Given the description of an element on the screen output the (x, y) to click on. 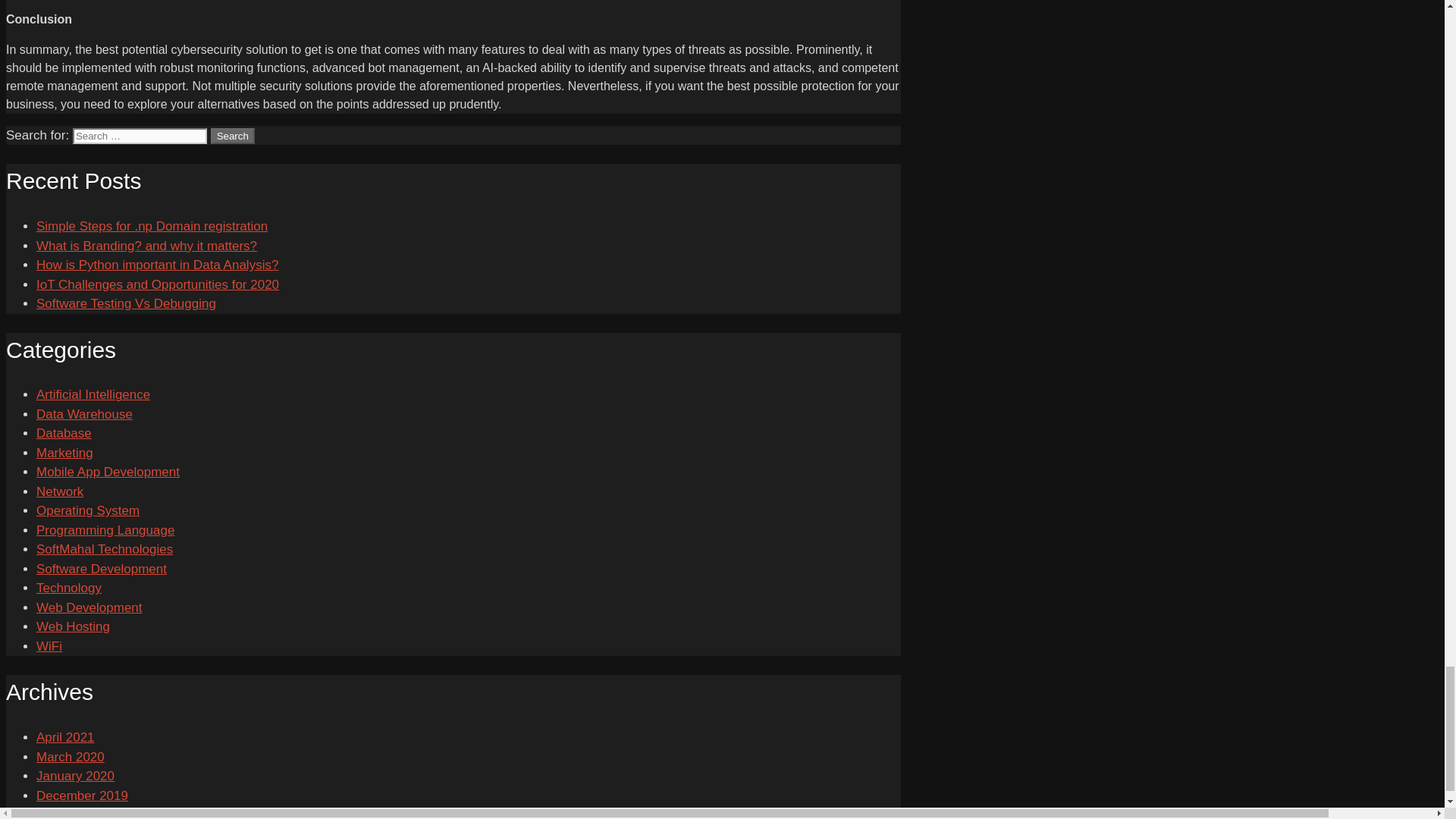
Simple Steps for .np Domain registration (151, 226)
How is Python important in Data Analysis? (157, 264)
Web Hosting (73, 626)
Search (232, 135)
March 2020 (70, 757)
Data Warehouse (84, 414)
December 2019 (82, 795)
Search for: (139, 135)
Network (59, 491)
Technology (68, 587)
Programming Language (105, 530)
Software Testing Vs Debugging (125, 303)
Marketing (64, 452)
Web Development (89, 607)
Search (232, 135)
